Given the description of an element on the screen output the (x, y) to click on. 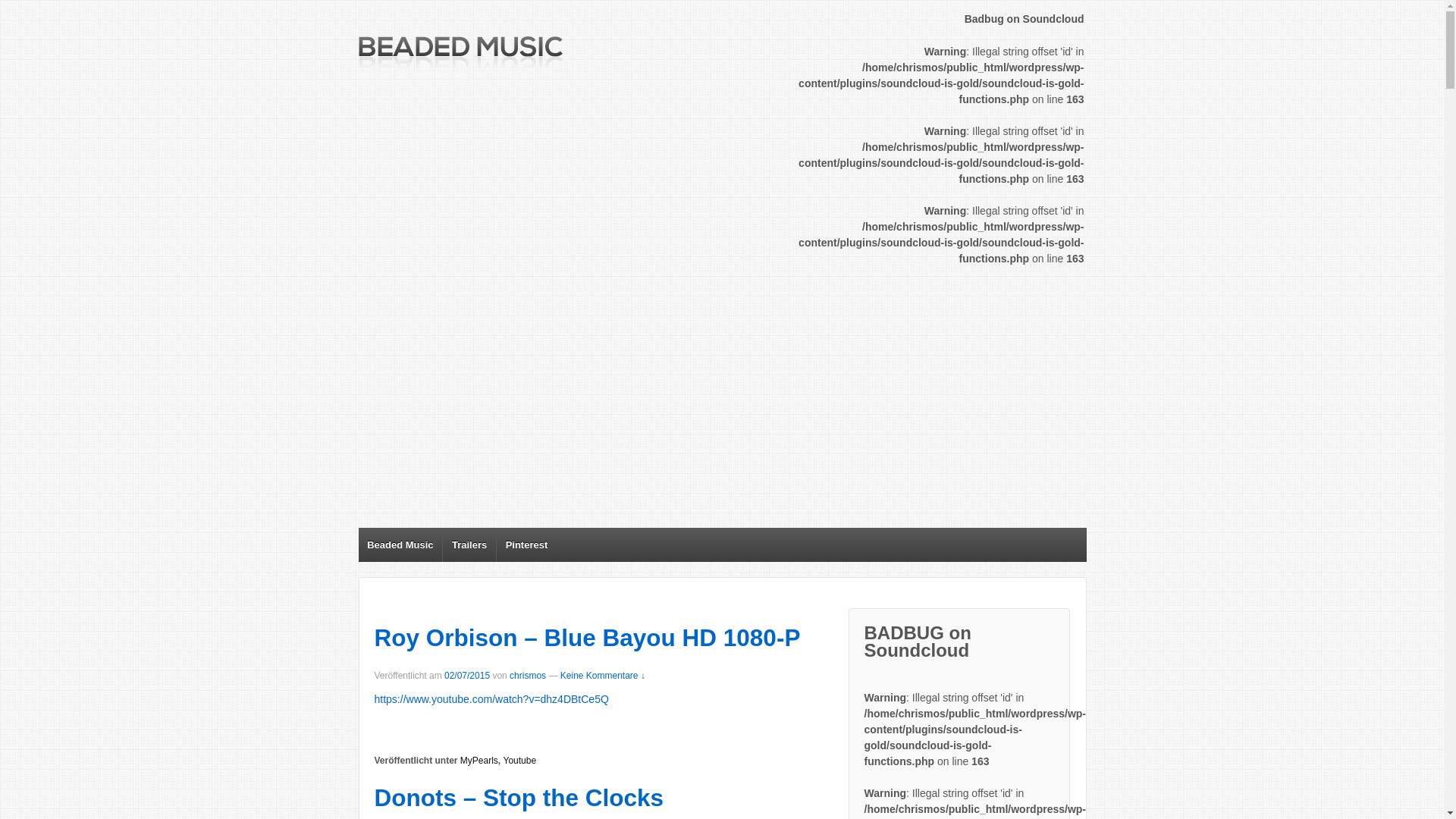
Pinterest Element type: text (525, 544)
MyPearls Element type: text (479, 760)
Trailers Element type: text (468, 544)
02/07/2015 Element type: text (466, 675)
chrismos Element type: text (527, 675)
Beaded Music Element type: text (399, 544)
https://www.youtube.com/watch?v=dhz4DBtCe5Q Element type: text (491, 699)
Youtube Element type: text (519, 760)
